Given the description of an element on the screen output the (x, y) to click on. 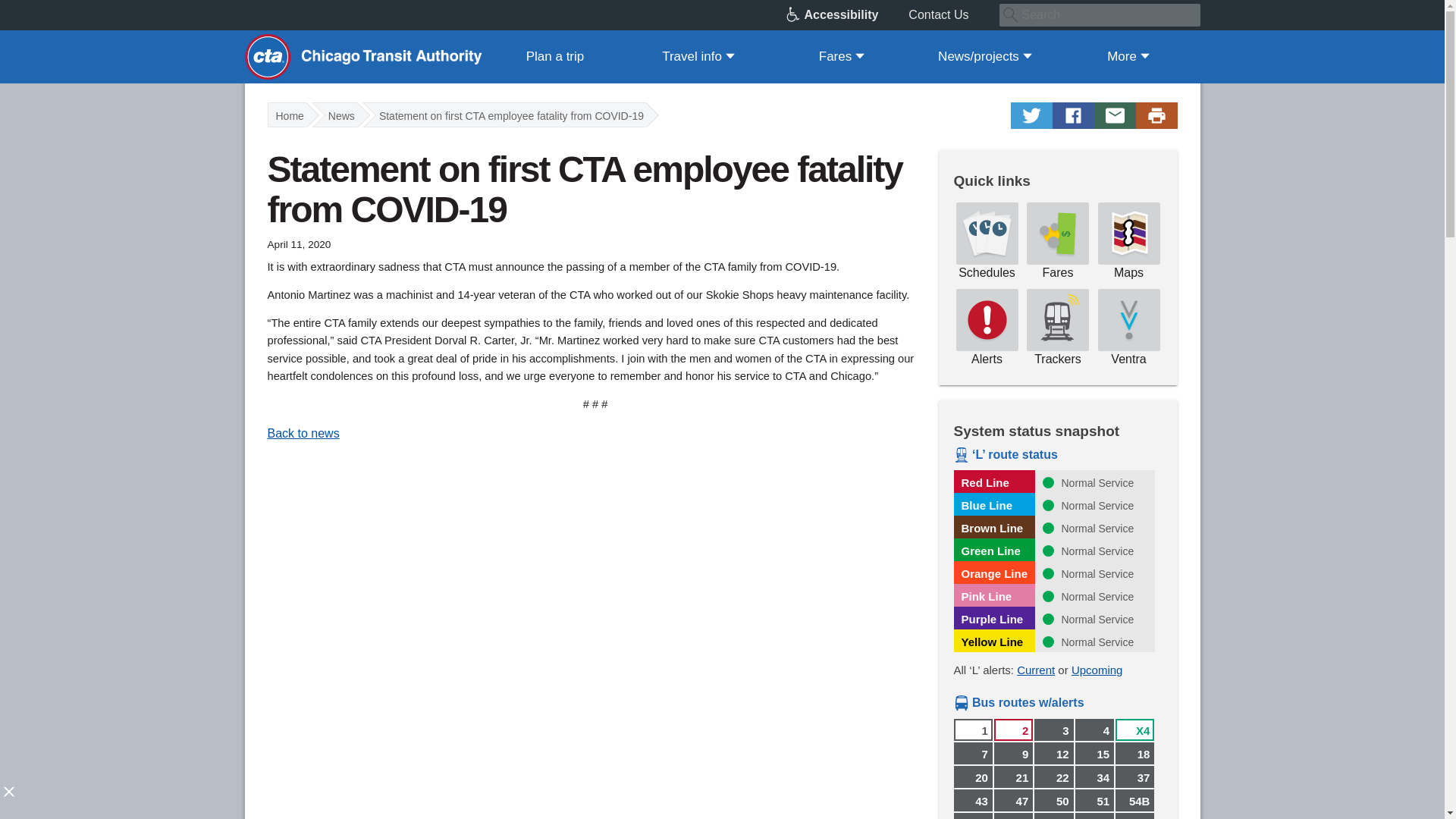
Travel info (698, 56)
Accessibility (847, 15)
Plan a trip (555, 56)
Contact Us (953, 15)
